Given the description of an element on the screen output the (x, y) to click on. 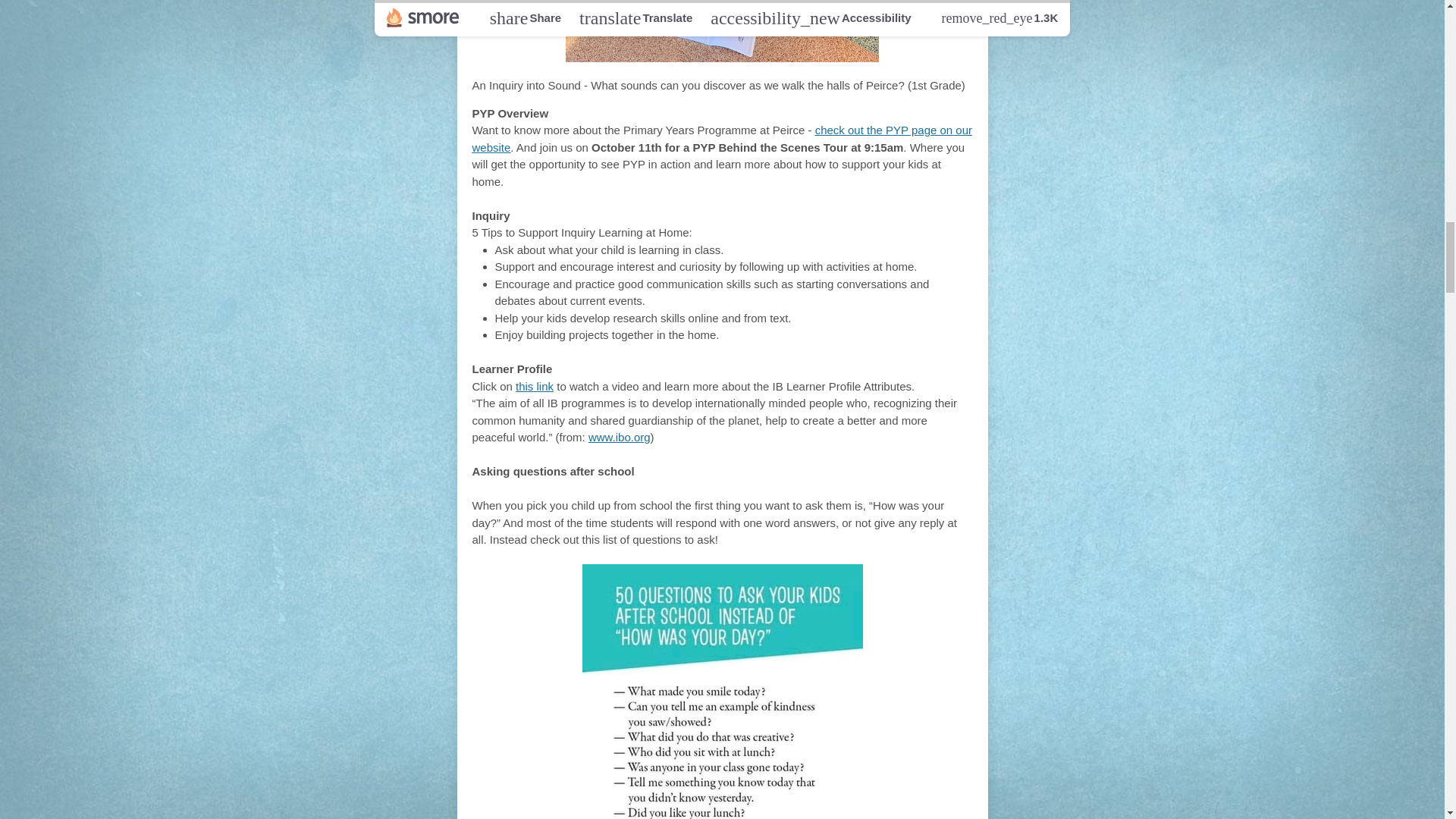
check out the PYP page on our website (721, 138)
www.ibo.org (619, 436)
this link (534, 386)
